Given the description of an element on the screen output the (x, y) to click on. 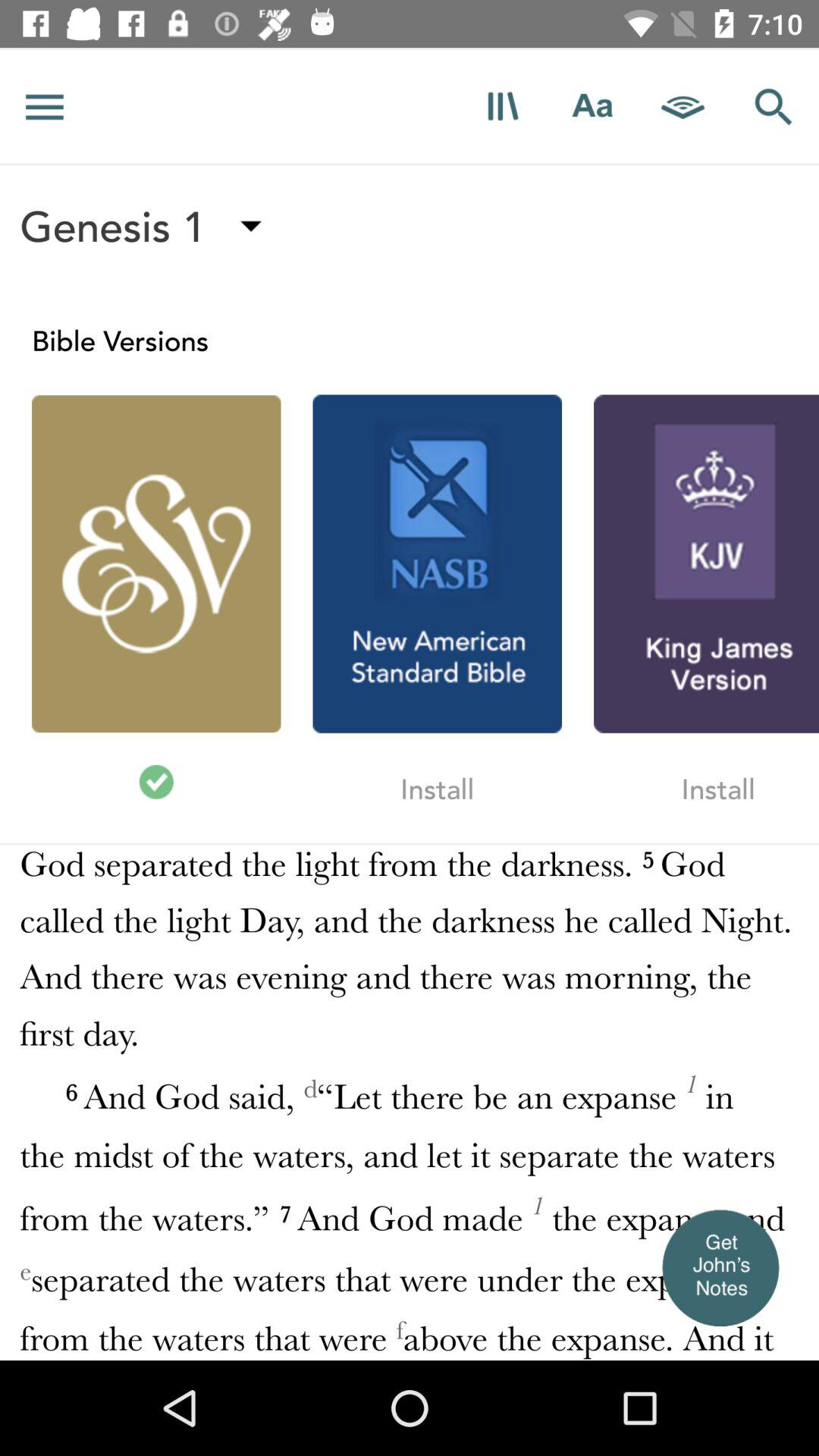
search (773, 106)
